Given the description of an element on the screen output the (x, y) to click on. 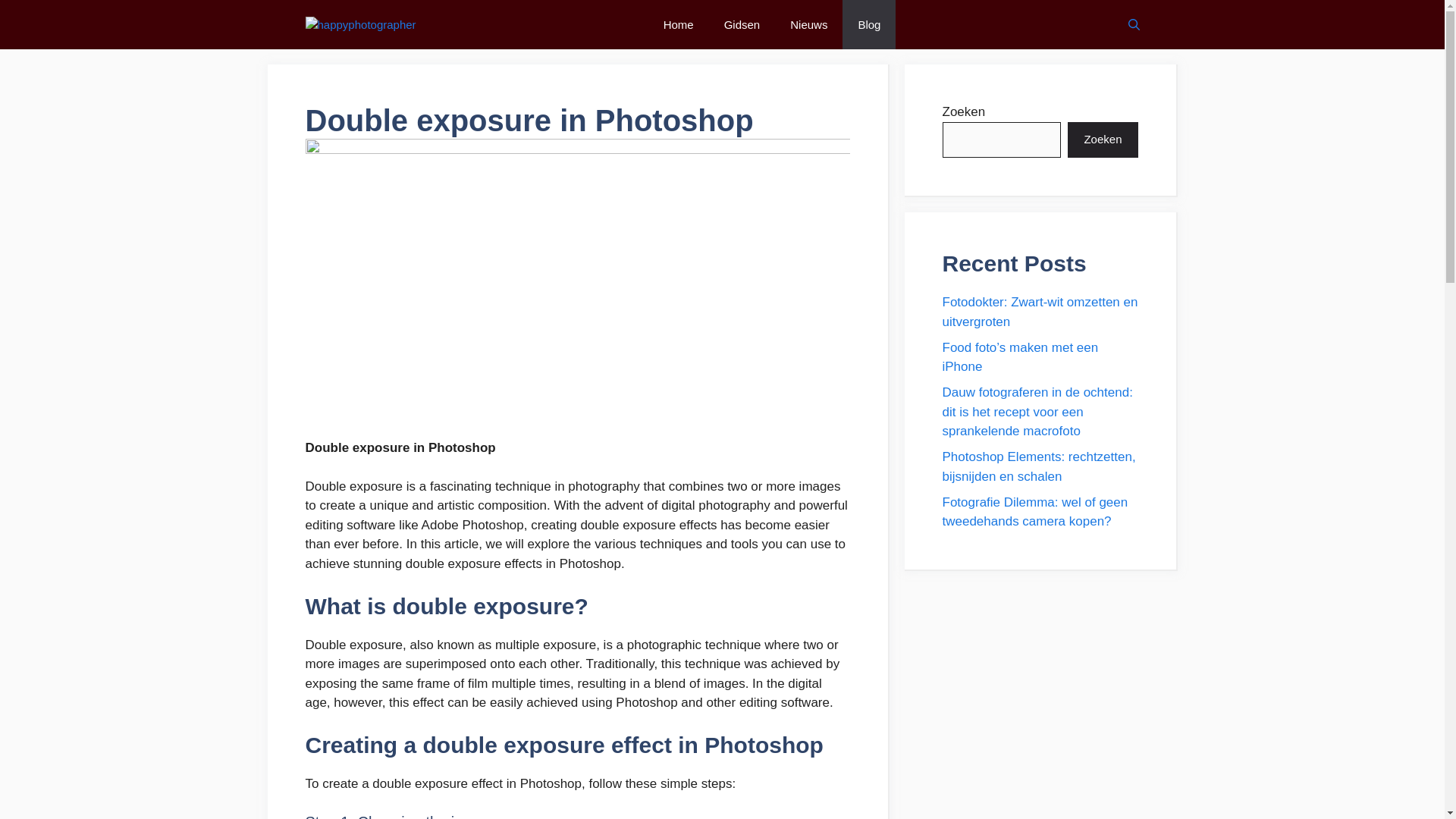
Home (678, 24)
Blog (869, 24)
Fotodokter: Zwart-wit omzetten en uitvergroten (1039, 311)
Zoeken (1102, 139)
Gidsen (742, 24)
Fotografie Dilemma: wel of geen tweedehands camera kopen? (1034, 511)
Nieuws (808, 24)
Photoshop Elements: rechtzetten, bijsnijden en schalen (1038, 466)
happyphotographer (359, 25)
